Given the description of an element on the screen output the (x, y) to click on. 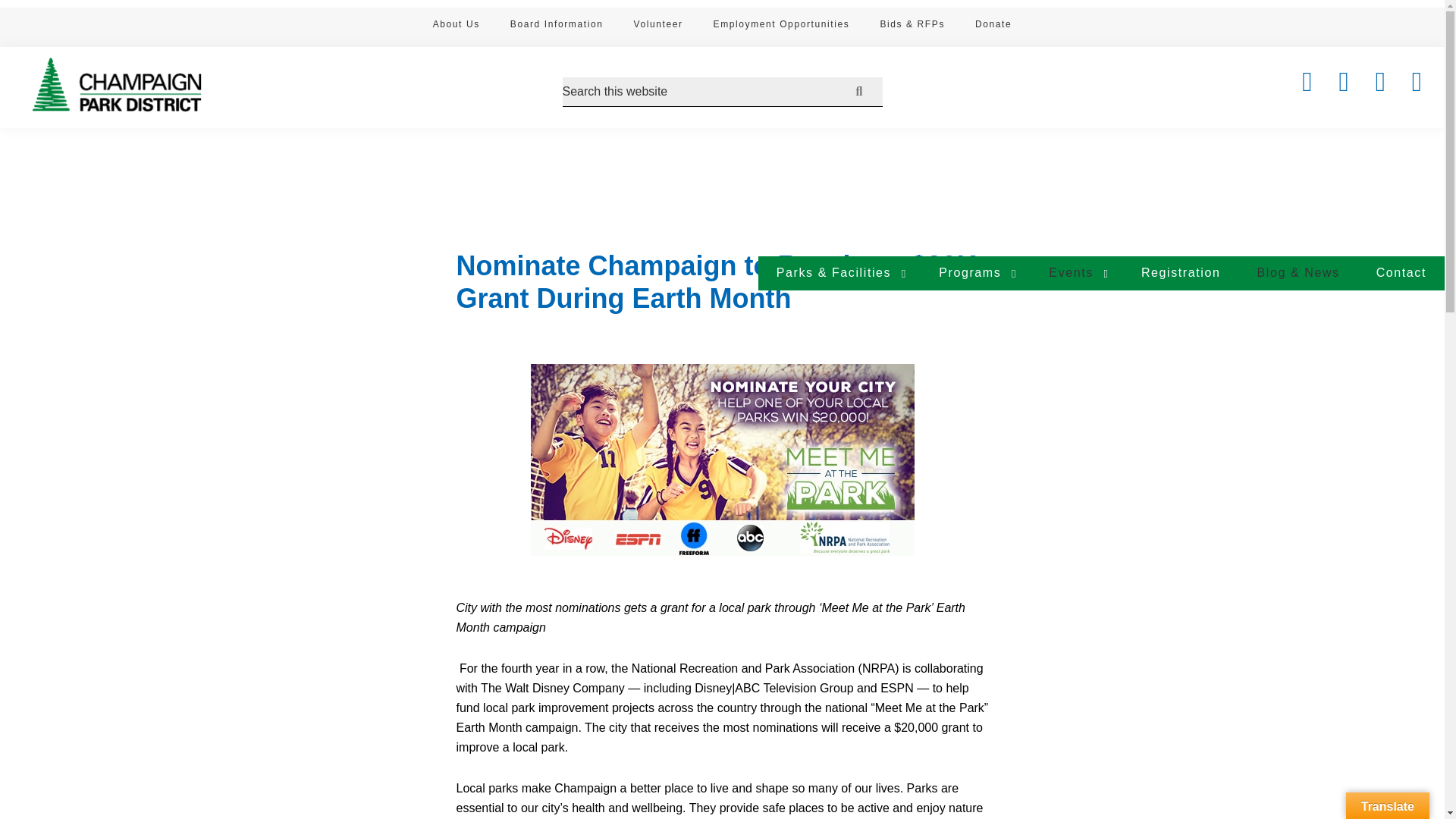
Volunteer (657, 26)
Board Information (556, 26)
About Us (456, 26)
Donate (992, 26)
Employment Opportunities (781, 26)
